Given the description of an element on the screen output the (x, y) to click on. 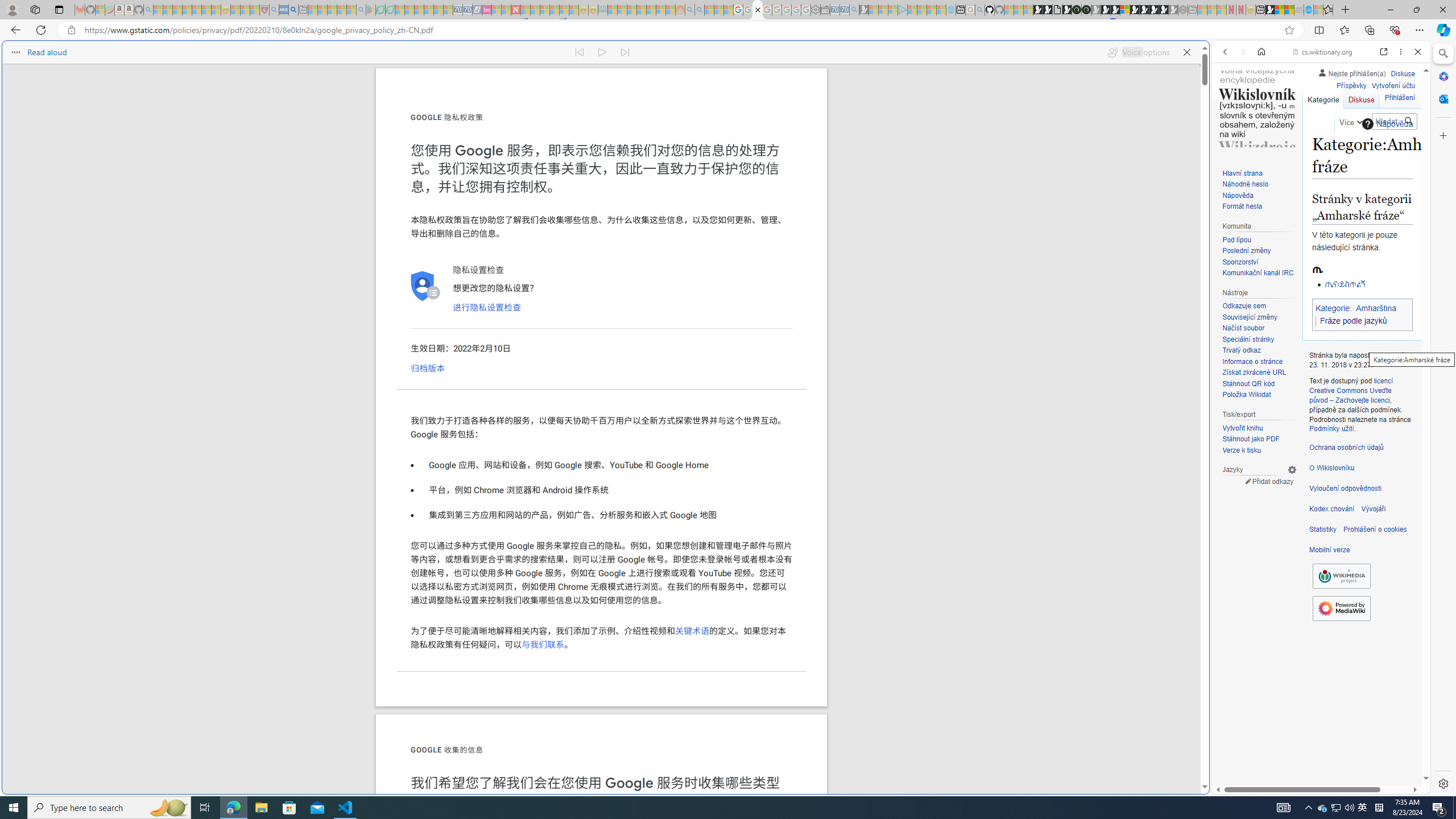
Hledat (1408, 121)
Bluey: Let's Play! - Apps on Google Play - Sleeping (370, 9)
Cheap Hotels - Save70.com - Sleeping (467, 9)
